Given the description of an element on the screen output the (x, y) to click on. 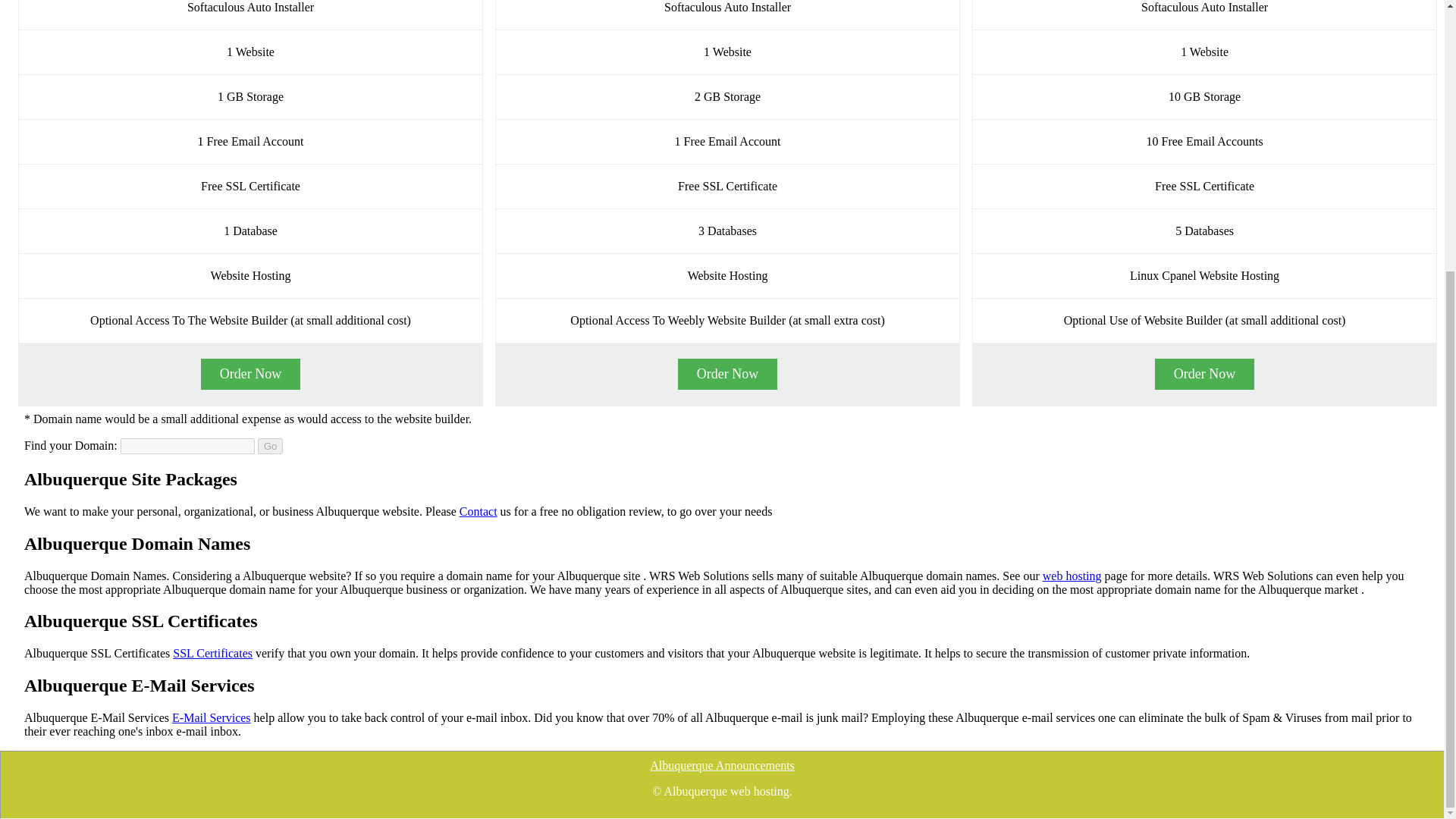
Go (270, 446)
Order Now (249, 373)
Order Now (727, 373)
Albuquerque Announcements (721, 766)
web hosting (1072, 575)
Contact (478, 511)
E-Mail Services (210, 717)
SSL Certificates (212, 653)
Go (270, 446)
Order Now (1203, 373)
